Given the description of an element on the screen output the (x, y) to click on. 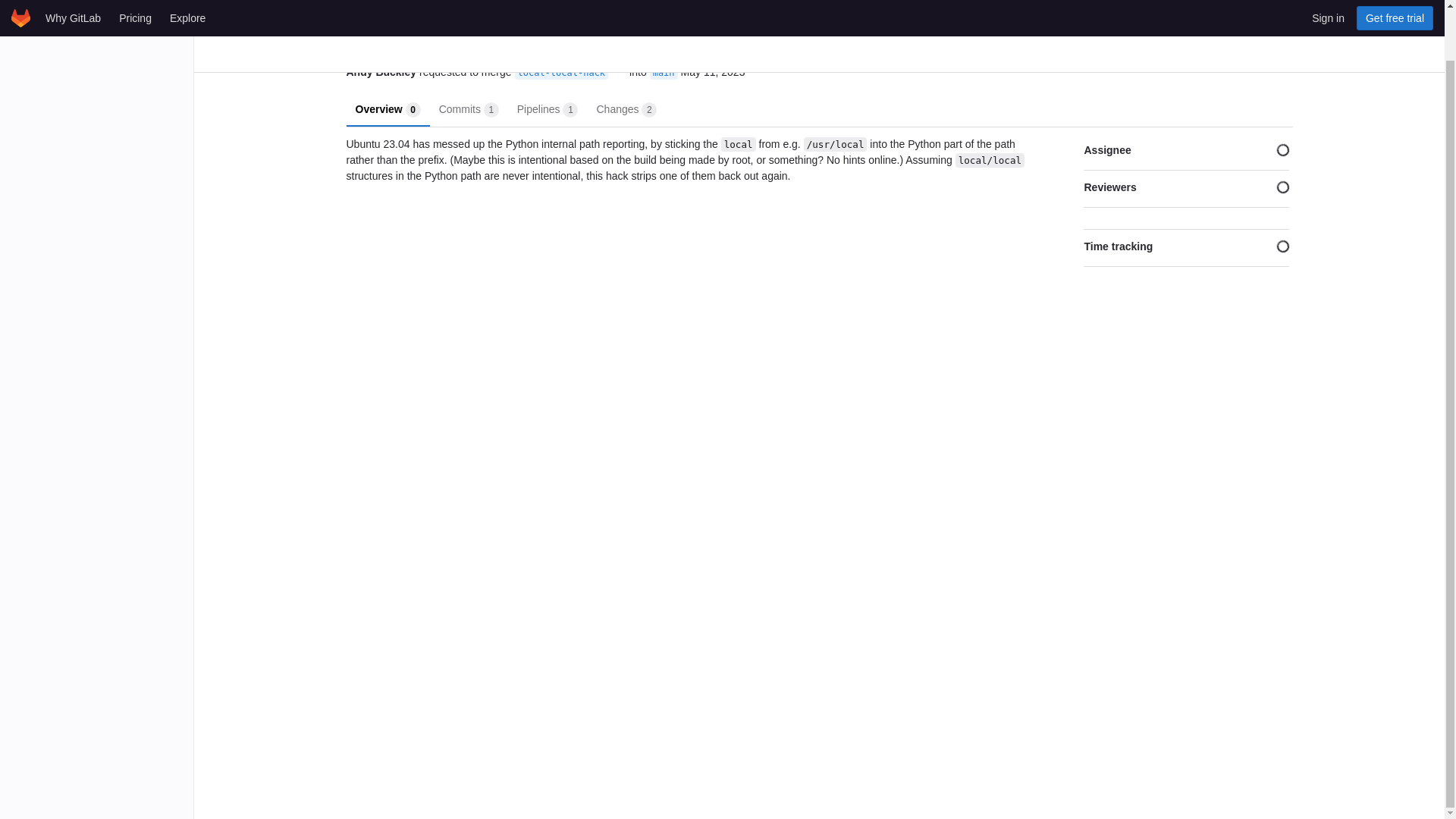
main (468, 108)
local-local-hack (625, 108)
main (663, 72)
May 11, 2023 1:28pm (560, 72)
Code (663, 72)
Andy Buckley (713, 72)
local-local-hack (387, 108)
